Given the description of an element on the screen output the (x, y) to click on. 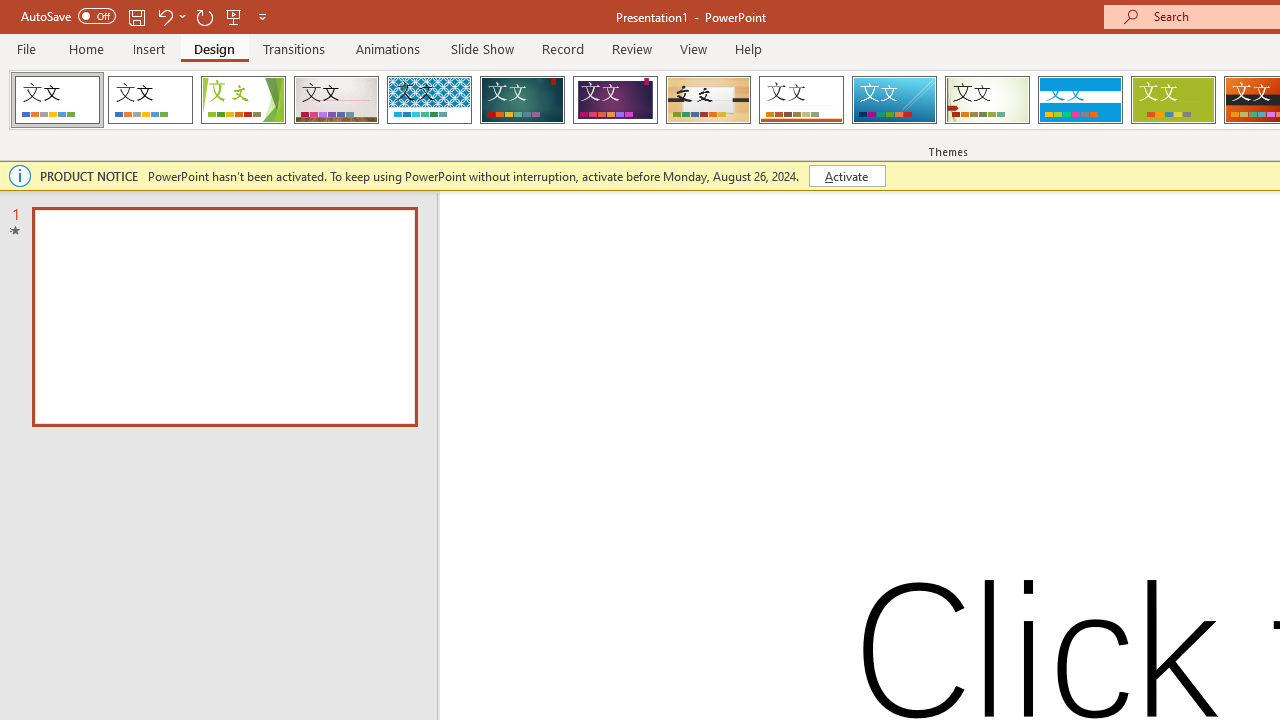
Wisp (987, 100)
